Given the description of an element on the screen output the (x, y) to click on. 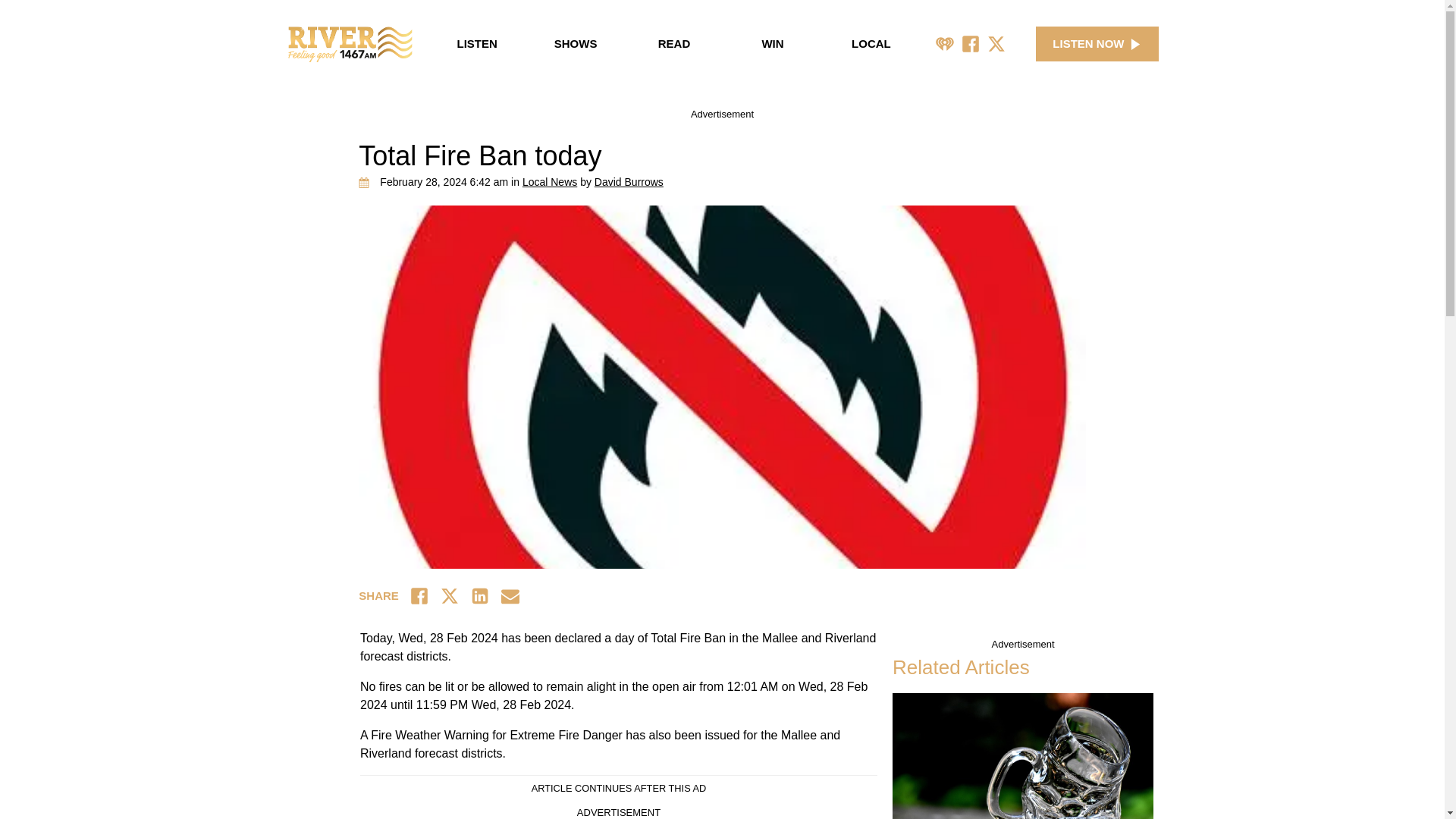
Posts by David Burrows (628, 182)
SHOWS (574, 43)
LISTEN NOW (1096, 44)
LOCAL (871, 43)
Facebook (969, 44)
iHeart (944, 44)
WIN (772, 43)
LISTEN (476, 43)
READ (673, 43)
